Given the description of an element on the screen output the (x, y) to click on. 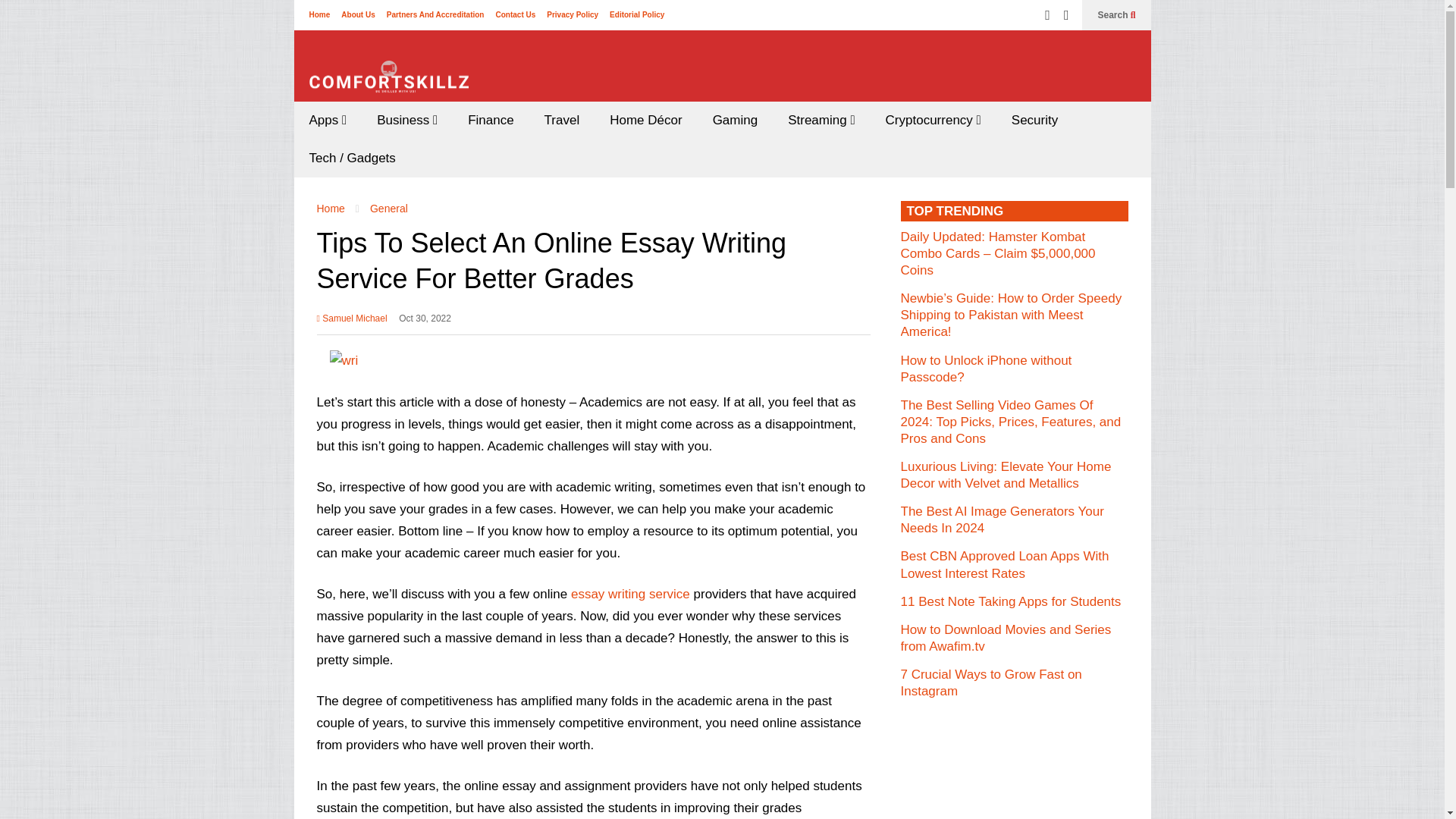
Contact Us (515, 14)
Gaming (735, 120)
About Us (357, 14)
Privacy Policy (572, 14)
Travel (562, 120)
Cryptocurrency (932, 120)
Editorial Policy (636, 14)
Home (319, 14)
Search (1116, 15)
